Given the description of an element on the screen output the (x, y) to click on. 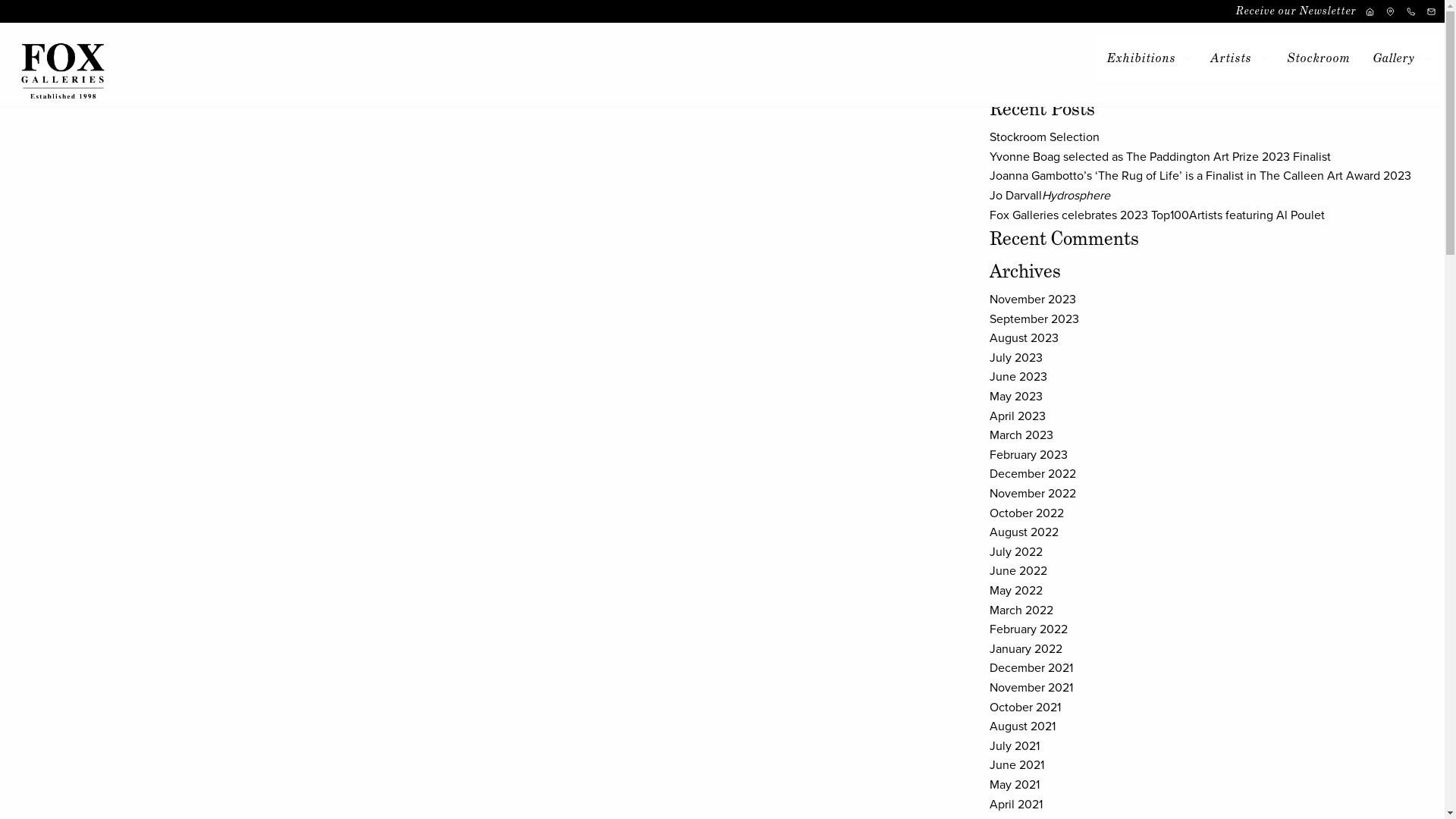
August 2023 Element type: text (1023, 337)
June 2021 Element type: text (1016, 764)
October 2021 Element type: text (1024, 707)
September 2023 Element type: text (1034, 318)
March 2022 Element type: text (1021, 610)
July 2022 Element type: text (1015, 551)
Exhibitions Element type: text (1147, 57)
November 2021 Element type: text (1031, 687)
May 2023 Element type: text (1015, 396)
July 2021 Element type: text (1014, 745)
April 2023 Element type: text (1017, 415)
July 2023 Element type: text (1015, 357)
Receive our Newsletter Element type: text (1296, 10)
February 2023 Element type: text (1028, 454)
November 2022 Element type: text (1032, 493)
Artists Element type: text (1237, 57)
Gallery Element type: text (1400, 57)
Stockroom Element type: text (1318, 57)
December 2022 Element type: text (1032, 473)
February 2022 Element type: text (1028, 629)
January 2022 Element type: text (1025, 648)
November 2023 Element type: text (1032, 299)
Jo DarvallHydrosphere Element type: text (1049, 195)
May 2022 Element type: text (1015, 590)
April 2021 Element type: text (1015, 804)
August 2021 Element type: text (1022, 726)
March 2023 Element type: text (1021, 434)
August 2022 Element type: text (1023, 531)
June 2023 Element type: text (1018, 376)
Stockroom Selection Element type: text (1044, 136)
May 2021 Element type: text (1014, 784)
October 2022 Element type: text (1026, 512)
December 2021 Element type: text (1031, 667)
June 2022 Element type: text (1018, 570)
